Given the description of an element on the screen output the (x, y) to click on. 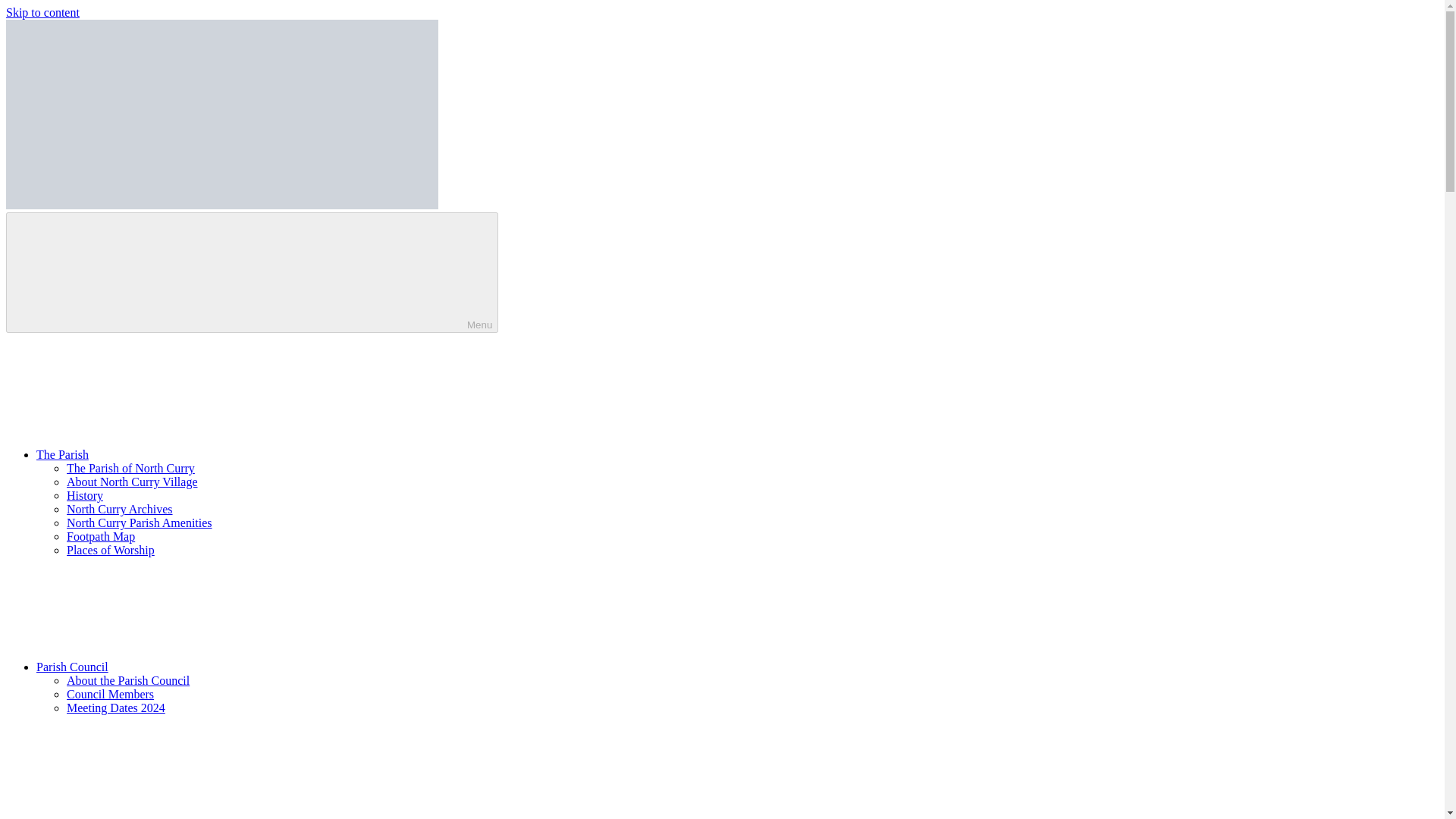
Parish Council (186, 666)
Council Members (110, 694)
Footpath Map (100, 535)
Places of Worship (110, 549)
The Parish (175, 454)
The Parish of North Curry (130, 468)
About the Parish Council (127, 680)
Menu (251, 272)
History (84, 495)
About North Curry Village (132, 481)
Skip to content (42, 11)
North Curry Parish Amenities (139, 522)
North Curry Archives (119, 508)
North Curry Parish Council (72, 230)
Meeting Dates 2024 (115, 707)
